Given the description of an element on the screen output the (x, y) to click on. 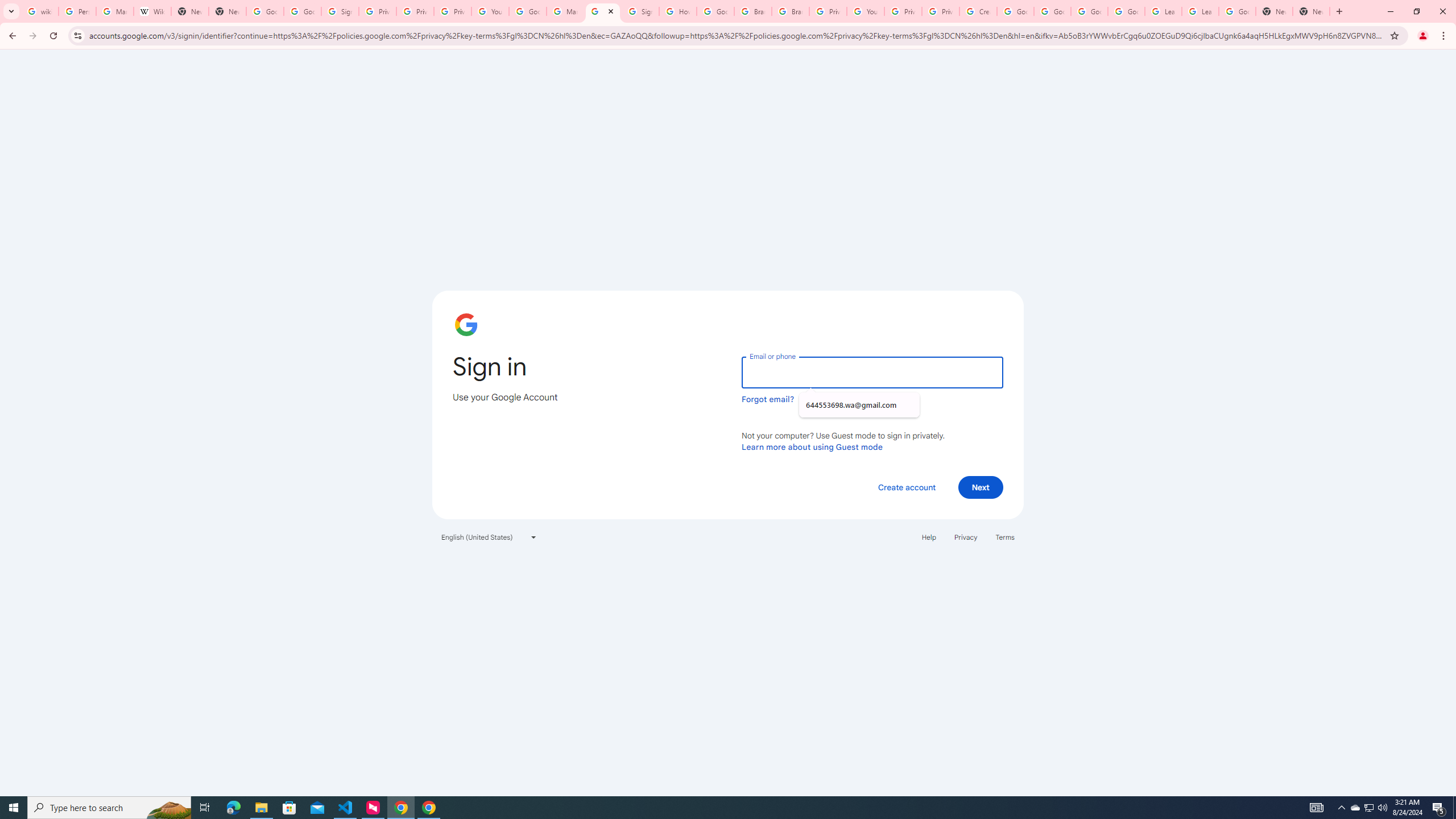
Close (610, 11)
Chrome (1445, 35)
Wikipedia:Edit requests - Wikipedia (152, 11)
Sign in - Google Accounts (602, 11)
Terms (1005, 536)
Address and search bar (735, 35)
Next (980, 486)
Sign in - Google Accounts (339, 11)
Bookmark this tab (1393, 35)
Google Account Help (1126, 11)
View site information (77, 35)
